Given the description of an element on the screen output the (x, y) to click on. 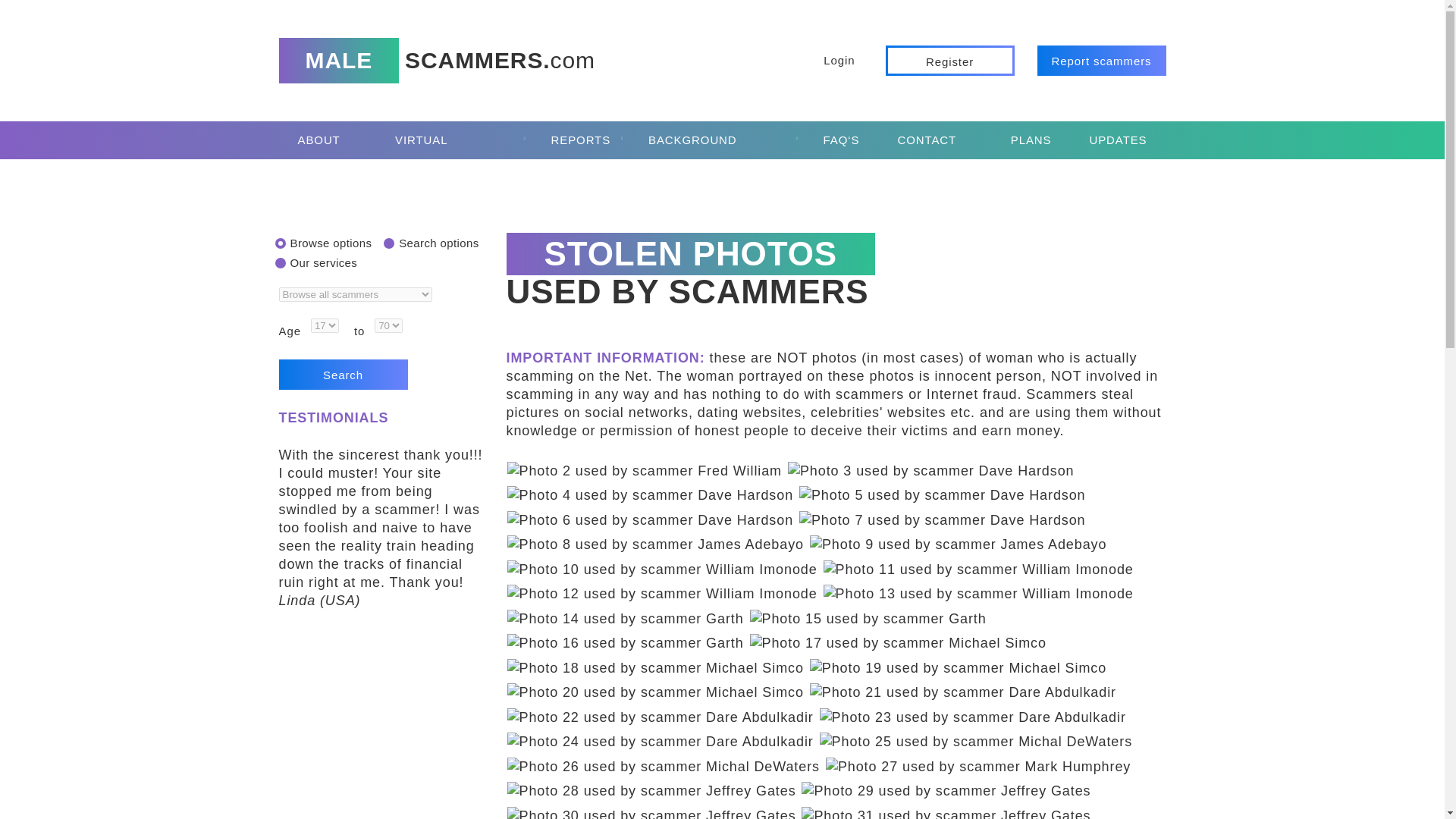
Photo 19 used by scammer Michael Simco (957, 667)
Photo 13 used by scammer William Imonode (979, 593)
Photo 16 used by scammer Garth  (624, 642)
Photo 21 used by scammer Dare Abdulkadir (962, 692)
ABOUT US (328, 139)
Photo 14 used by scammer Garth  (624, 618)
Photo 5 used by scammer Dave Hardson (942, 495)
Photo 18 used by scammer Michael Simco (654, 667)
BACKGROUND CHECKS (716, 139)
Photo 11 used by scammer William Imonode (979, 568)
